Given the description of an element on the screen output the (x, y) to click on. 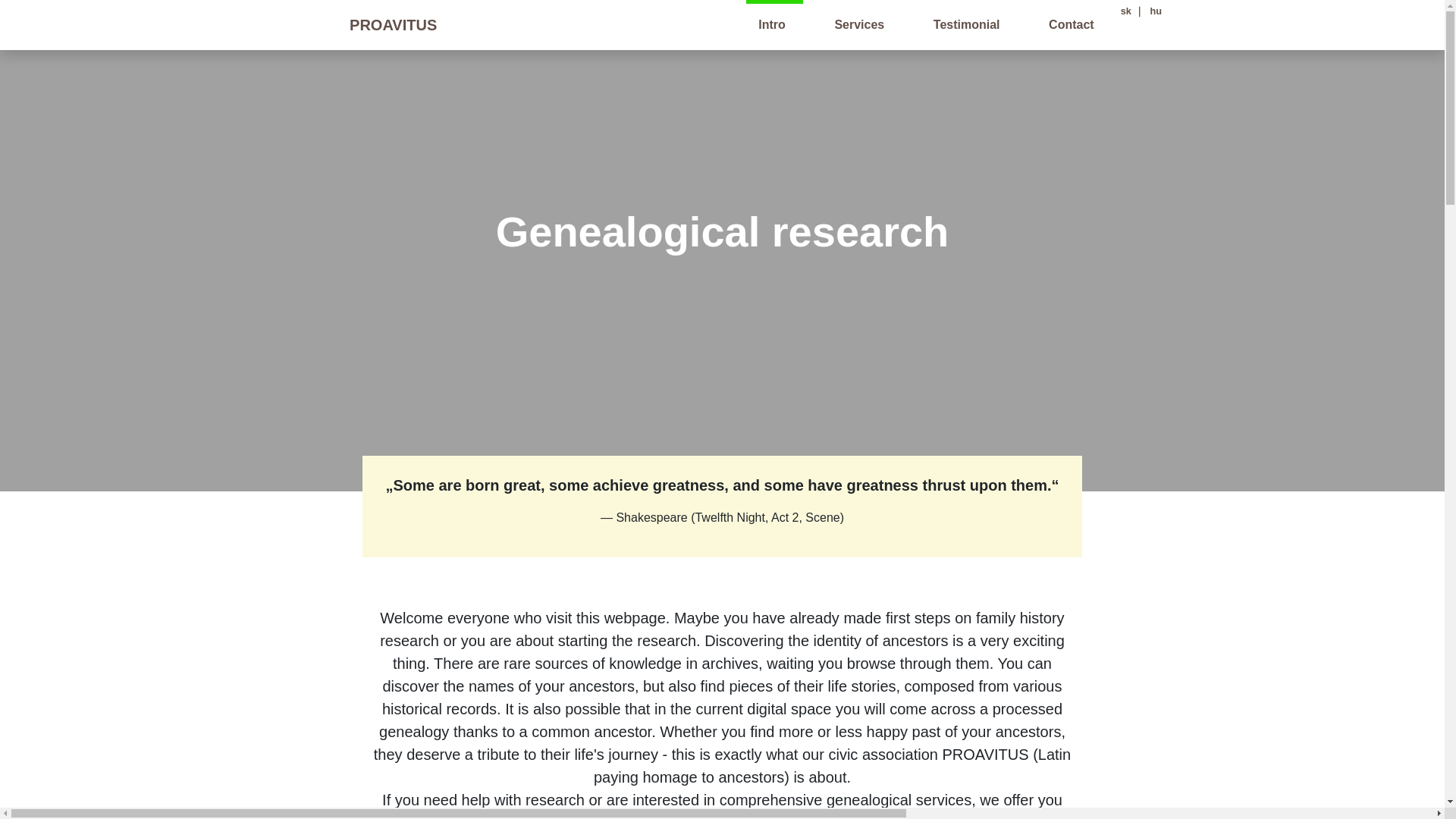
Services (858, 24)
PROAVITUS (375, 24)
Contact (1071, 24)
Testimonial (966, 24)
 hu (1154, 11)
Intro (771, 24)
